Given the description of an element on the screen output the (x, y) to click on. 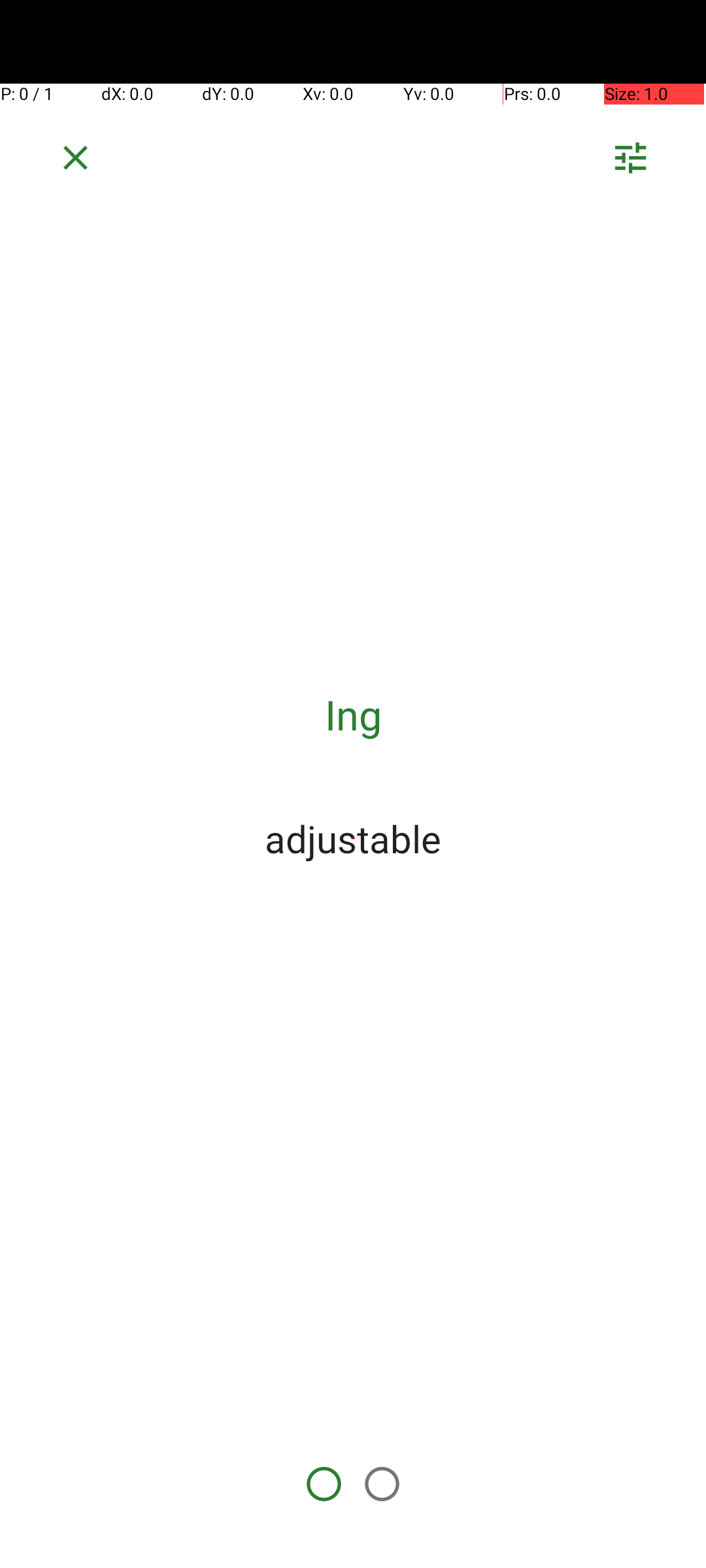
adjustable Element type: android.widget.TextView (352, 838)
